Given the description of an element on the screen output the (x, y) to click on. 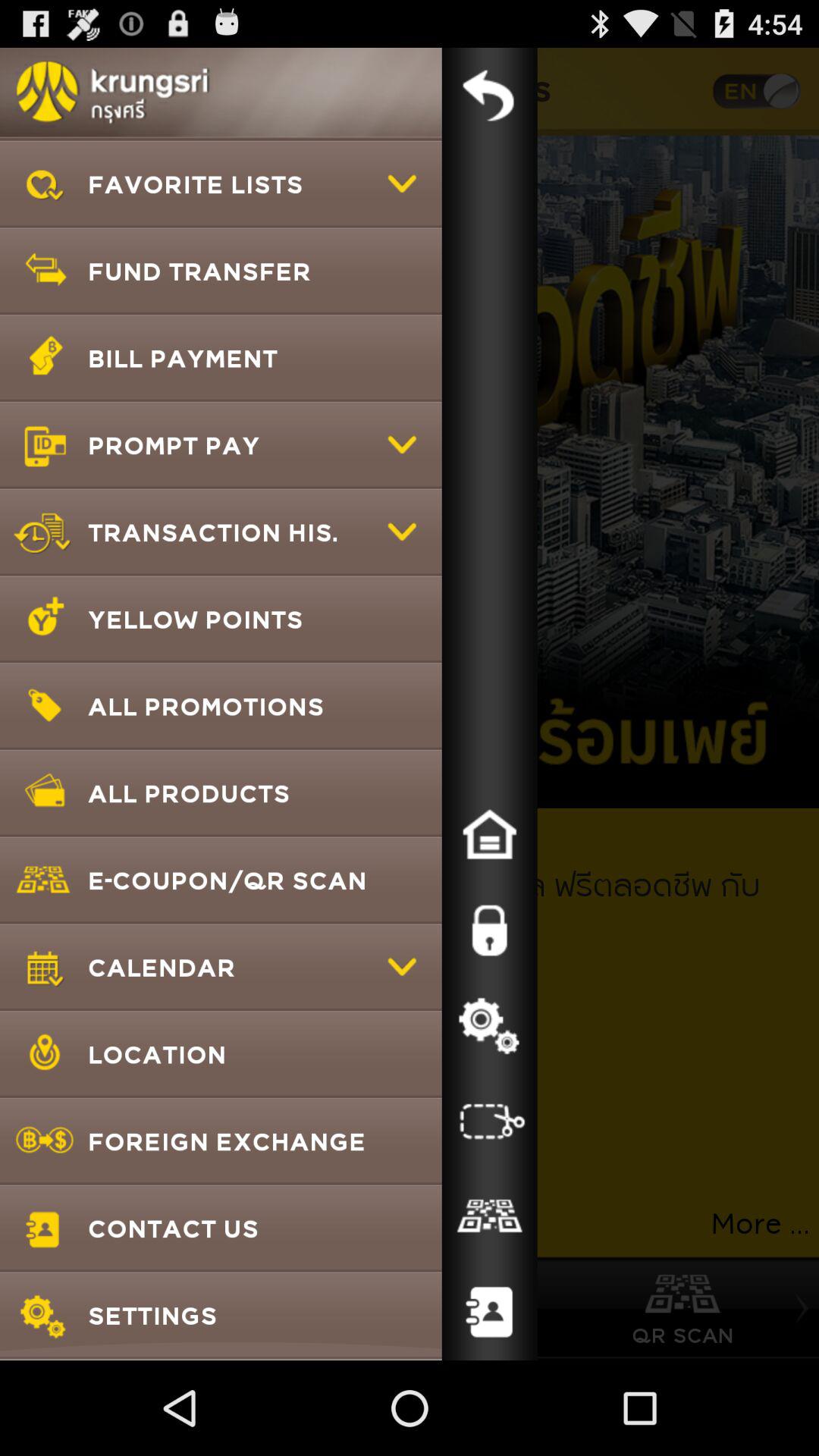
click icon to the right of foreign exchange app (489, 1216)
